Given the description of an element on the screen output the (x, y) to click on. 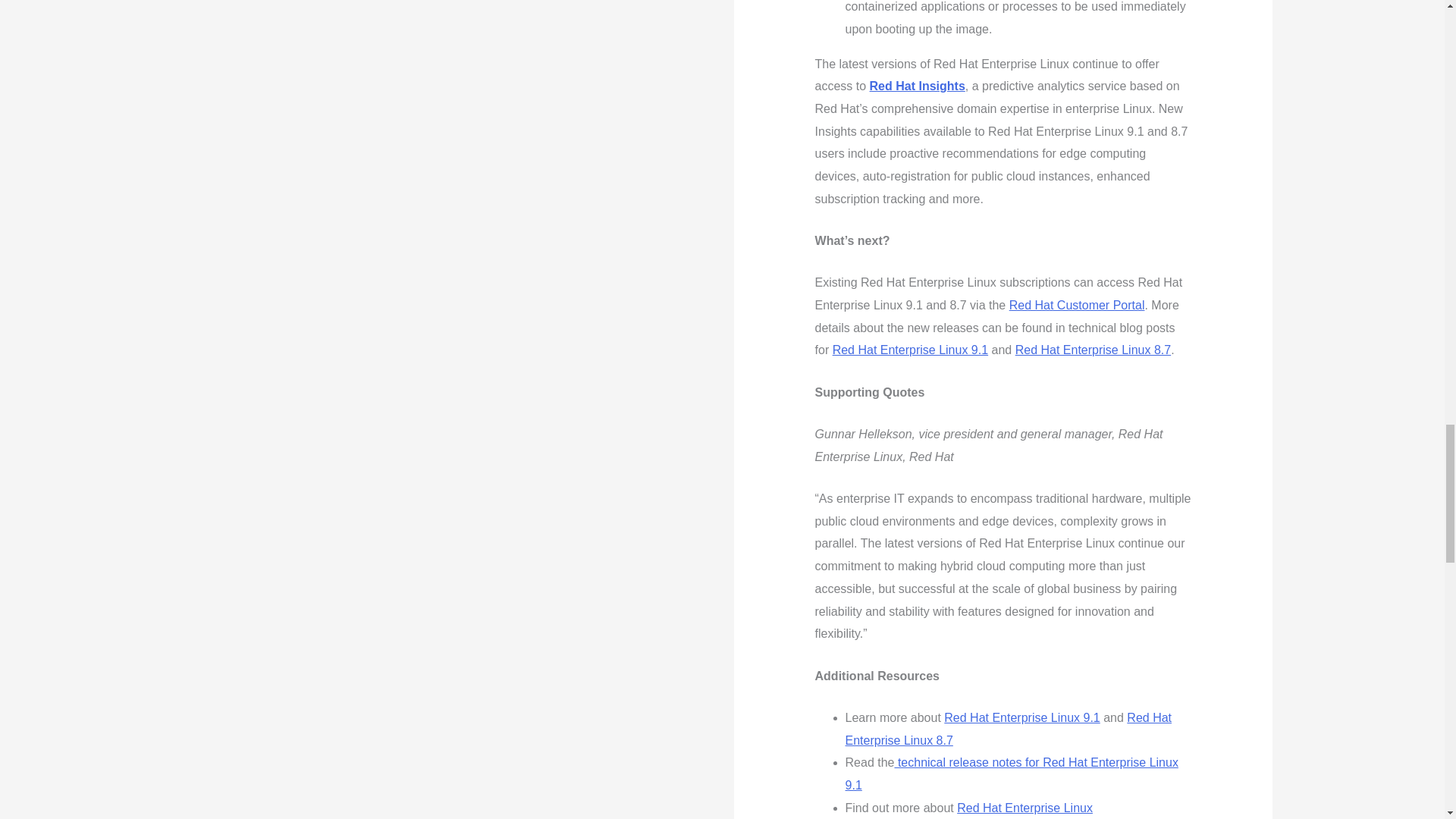
Red Hat Enterprise Linux 9.1 (1021, 717)
Red Hat Enterprise Linux 8.7 (1008, 728)
Red Hat Enterprise Linux 8.7 (1092, 349)
technical release notes for Red Hat Enterprise Linux 9.1 (1011, 773)
Red Hat Insights (917, 85)
Red Hat Enterprise Linux (1024, 807)
Red Hat Enterprise Linux 9.1 (910, 349)
Red Hat Customer Portal (1076, 305)
